Given the description of an element on the screen output the (x, y) to click on. 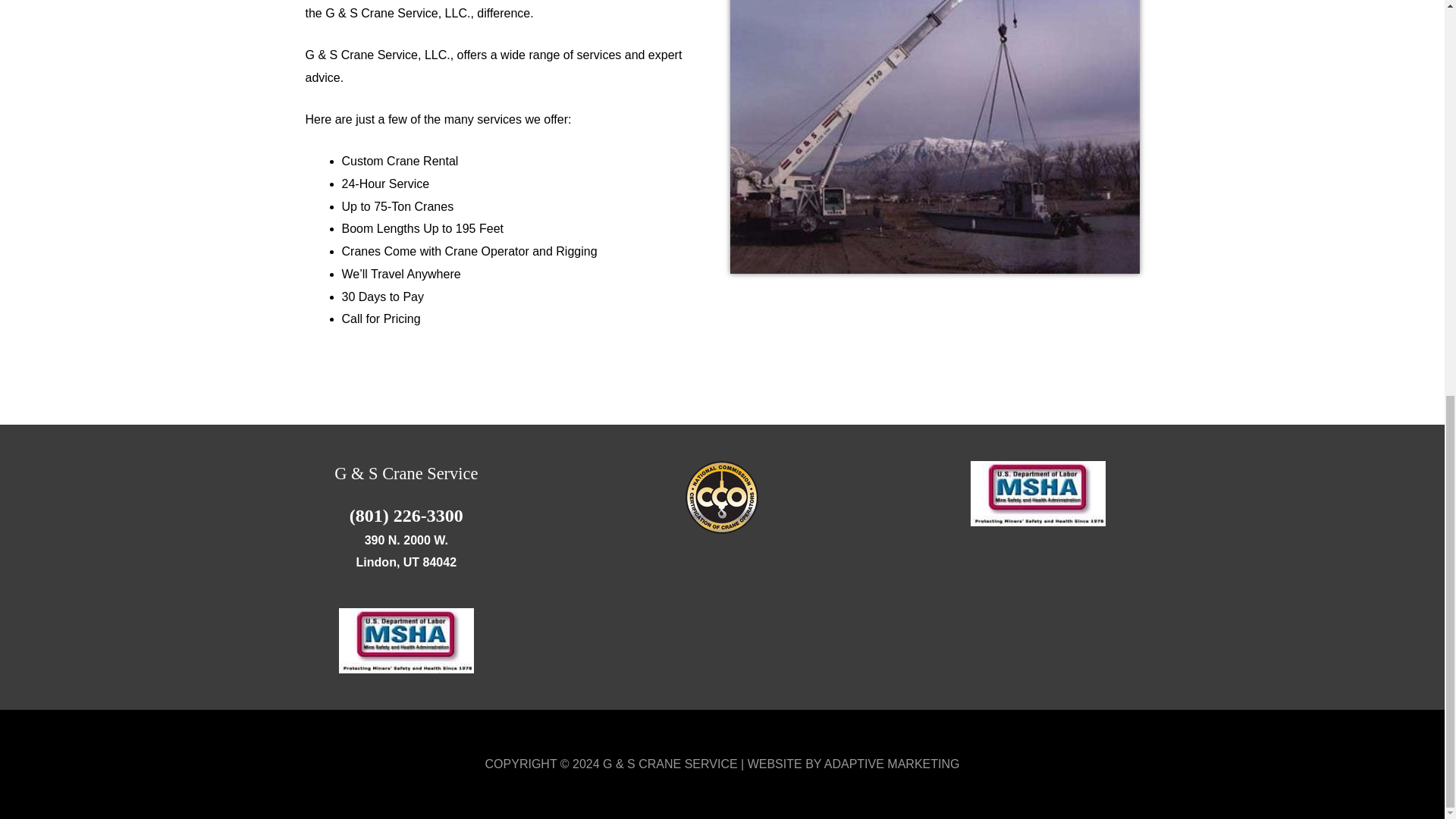
cco logo (721, 497)
msha logo (406, 640)
msha logo (1038, 493)
ADAPTIVE MARKETING (891, 763)
